Given the description of an element on the screen output the (x, y) to click on. 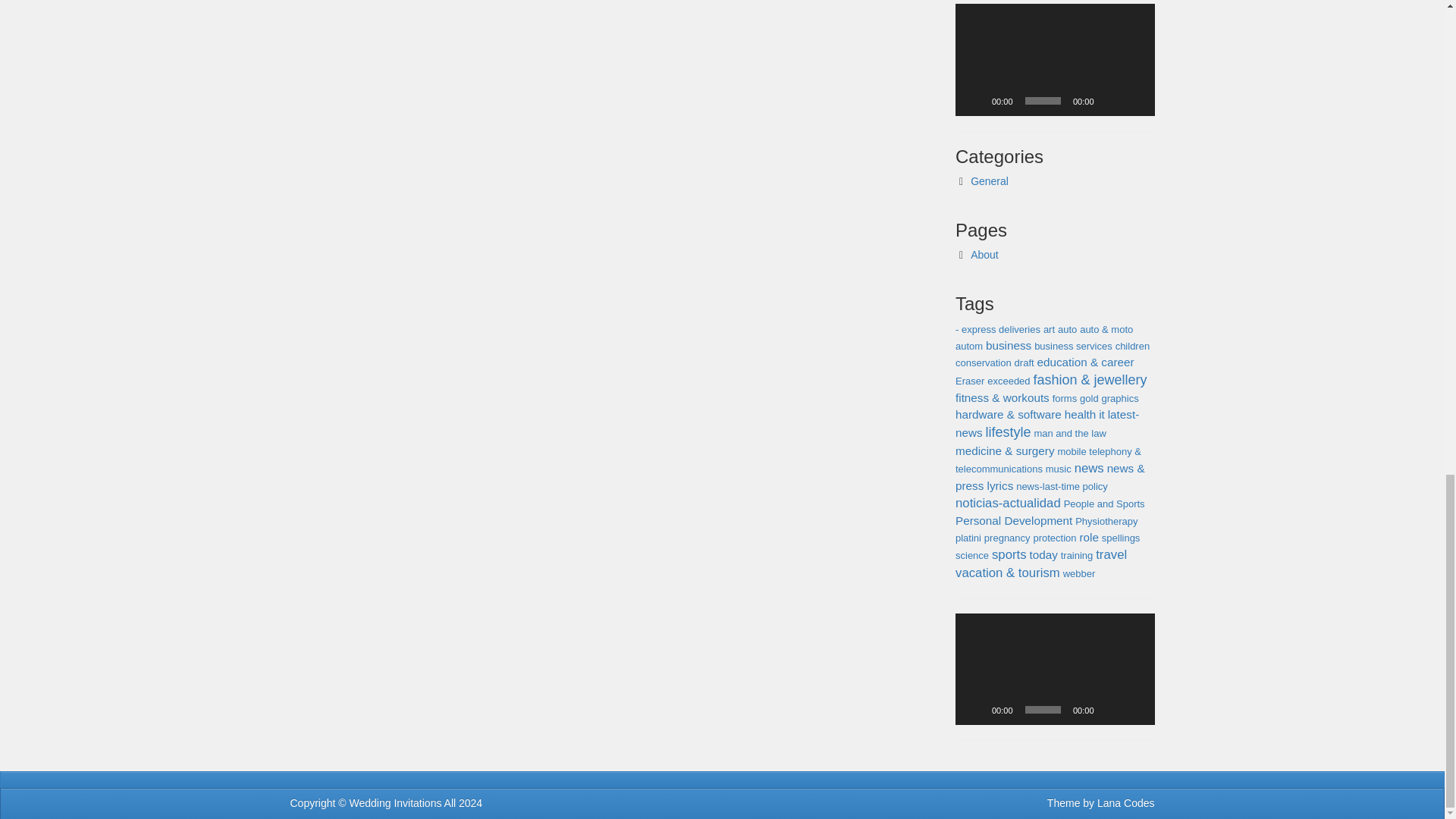
Fullscreen (1133, 709)
Play (975, 709)
Mute (1110, 709)
Fullscreen (1133, 100)
Mute (1110, 100)
Play (975, 100)
